Given the description of an element on the screen output the (x, y) to click on. 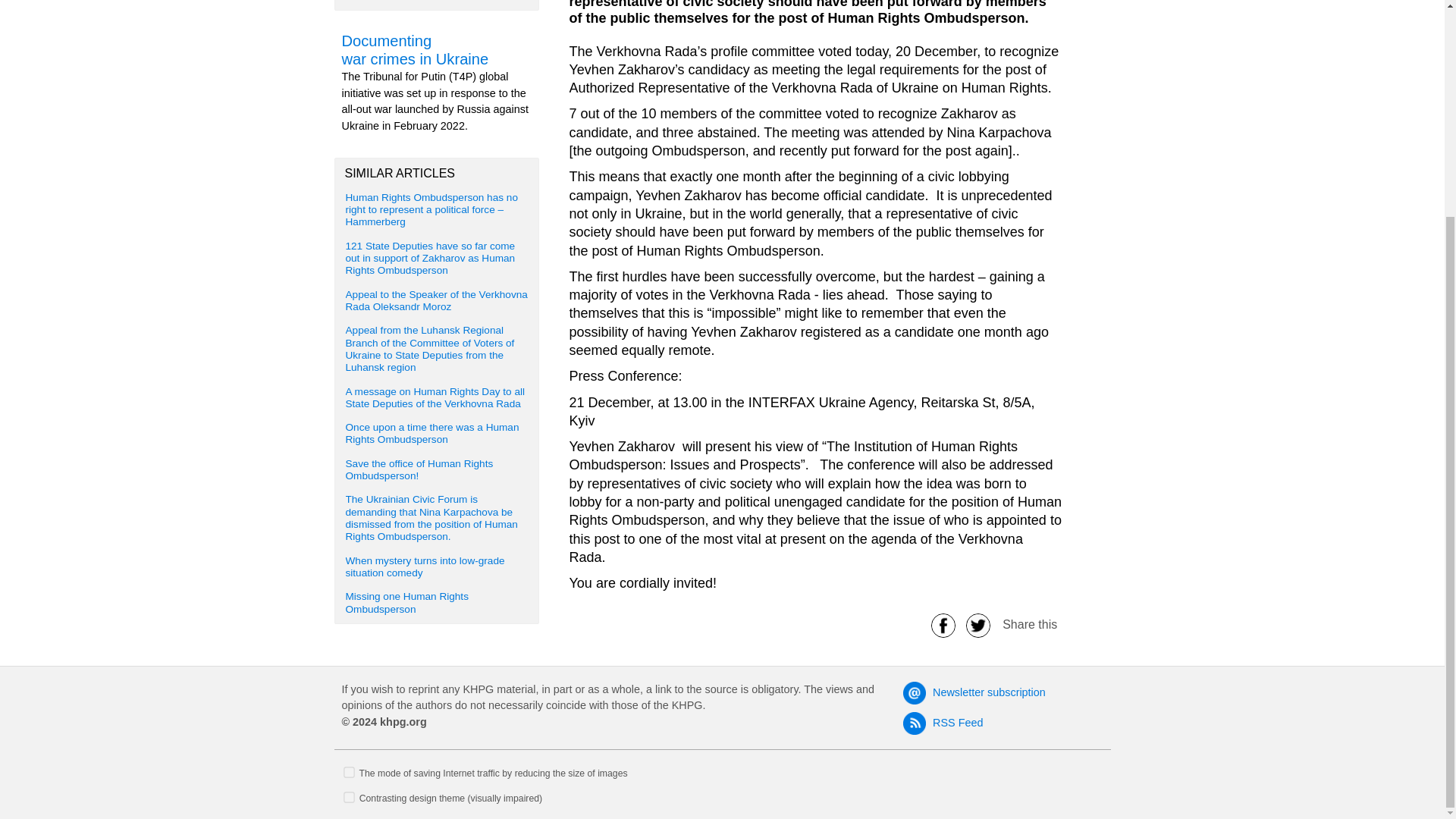
1 (348, 797)
Facebook (943, 624)
Twitter (977, 624)
1 (348, 772)
